Given the description of an element on the screen output the (x, y) to click on. 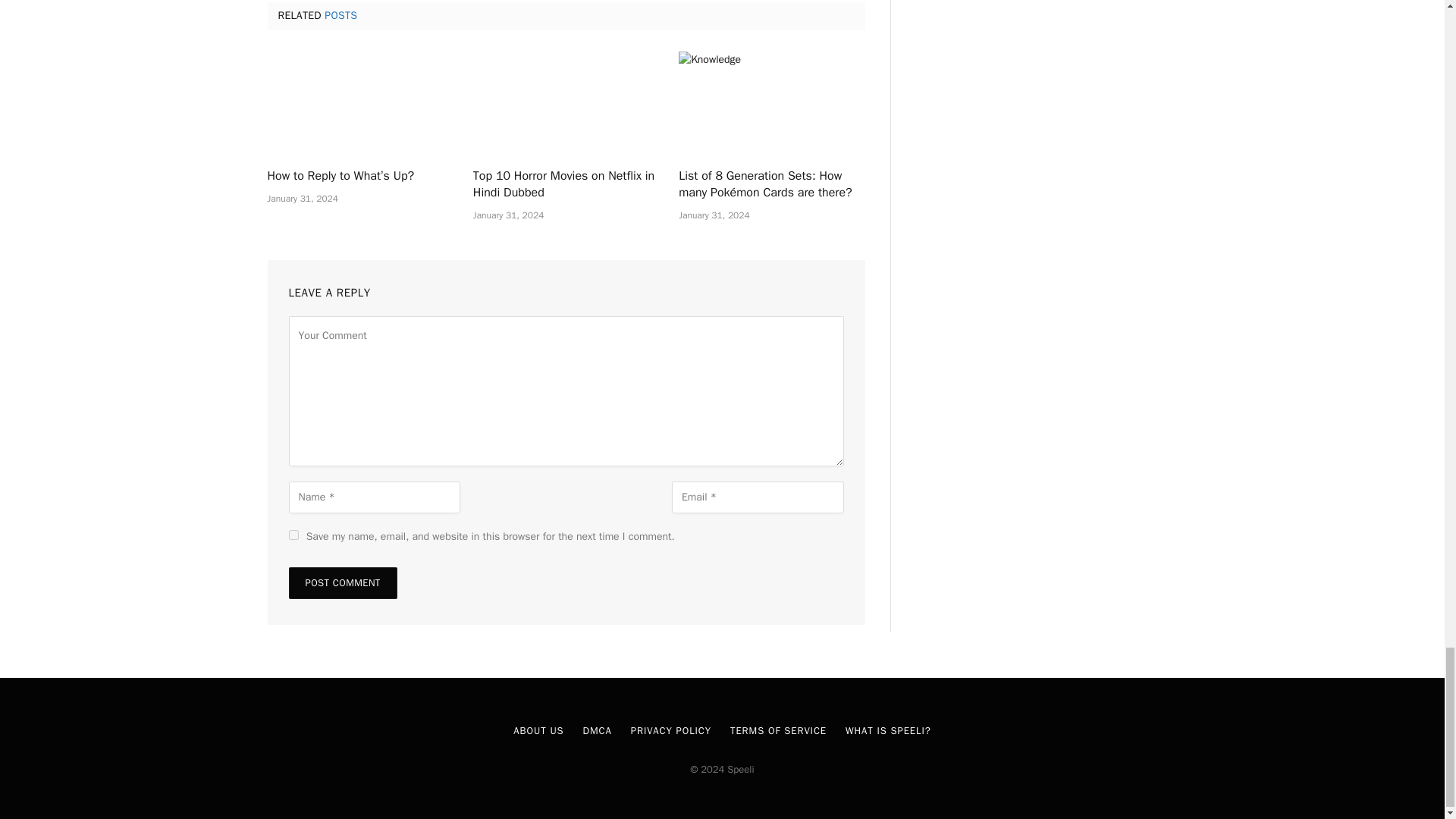
Post Comment (342, 582)
yes (293, 534)
Top 10 Horror Movies on Netflix in Hindi Dubbed (566, 184)
